Given the description of an element on the screen output the (x, y) to click on. 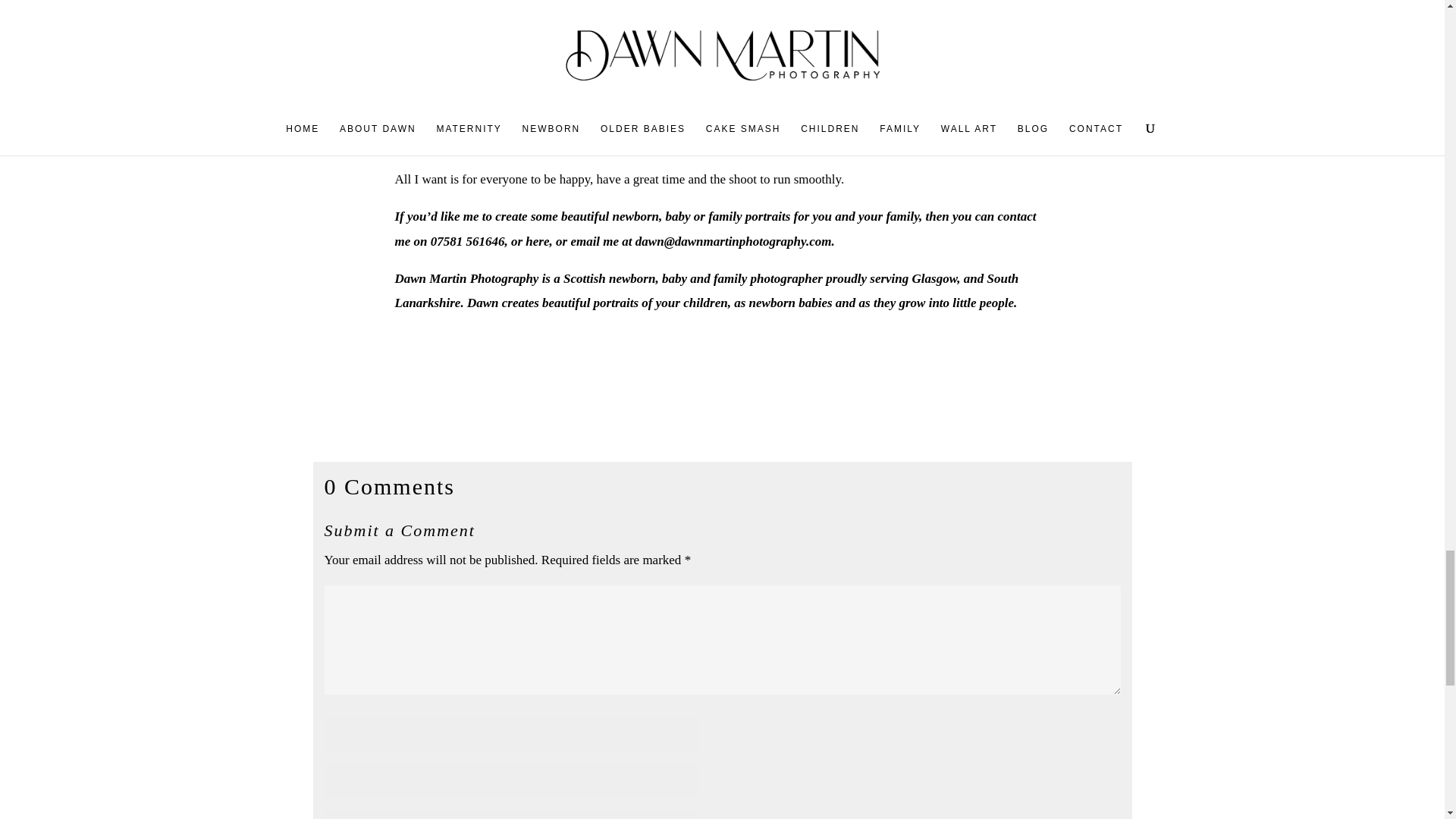
family (729, 278)
newborn (631, 278)
here (536, 240)
baby (674, 278)
